Given the description of an element on the screen output the (x, y) to click on. 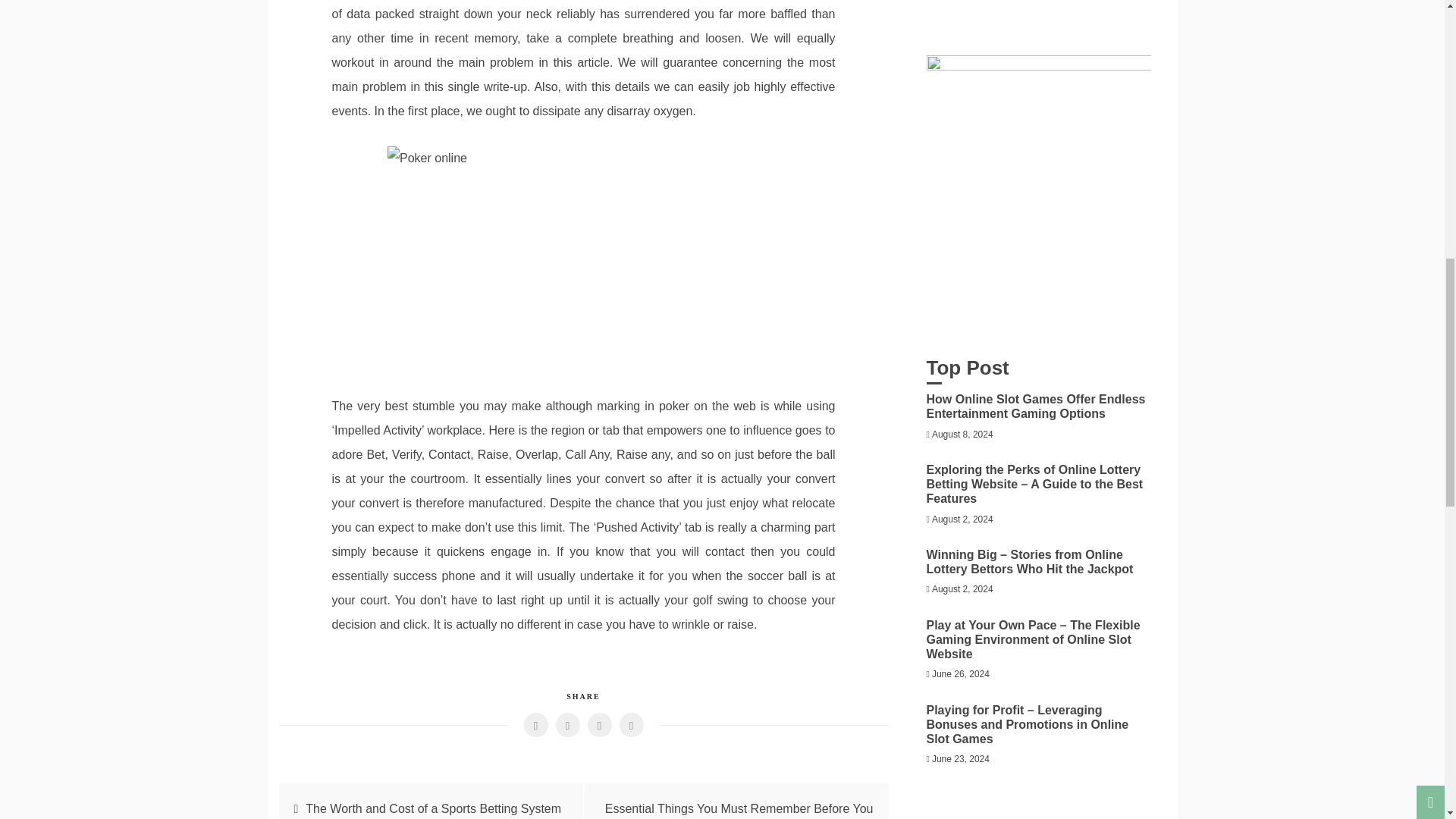
August 8, 2024 (961, 434)
The Worth and Cost of a Sports Betting System (432, 808)
August 2, 2024 (961, 519)
